Given the description of an element on the screen output the (x, y) to click on. 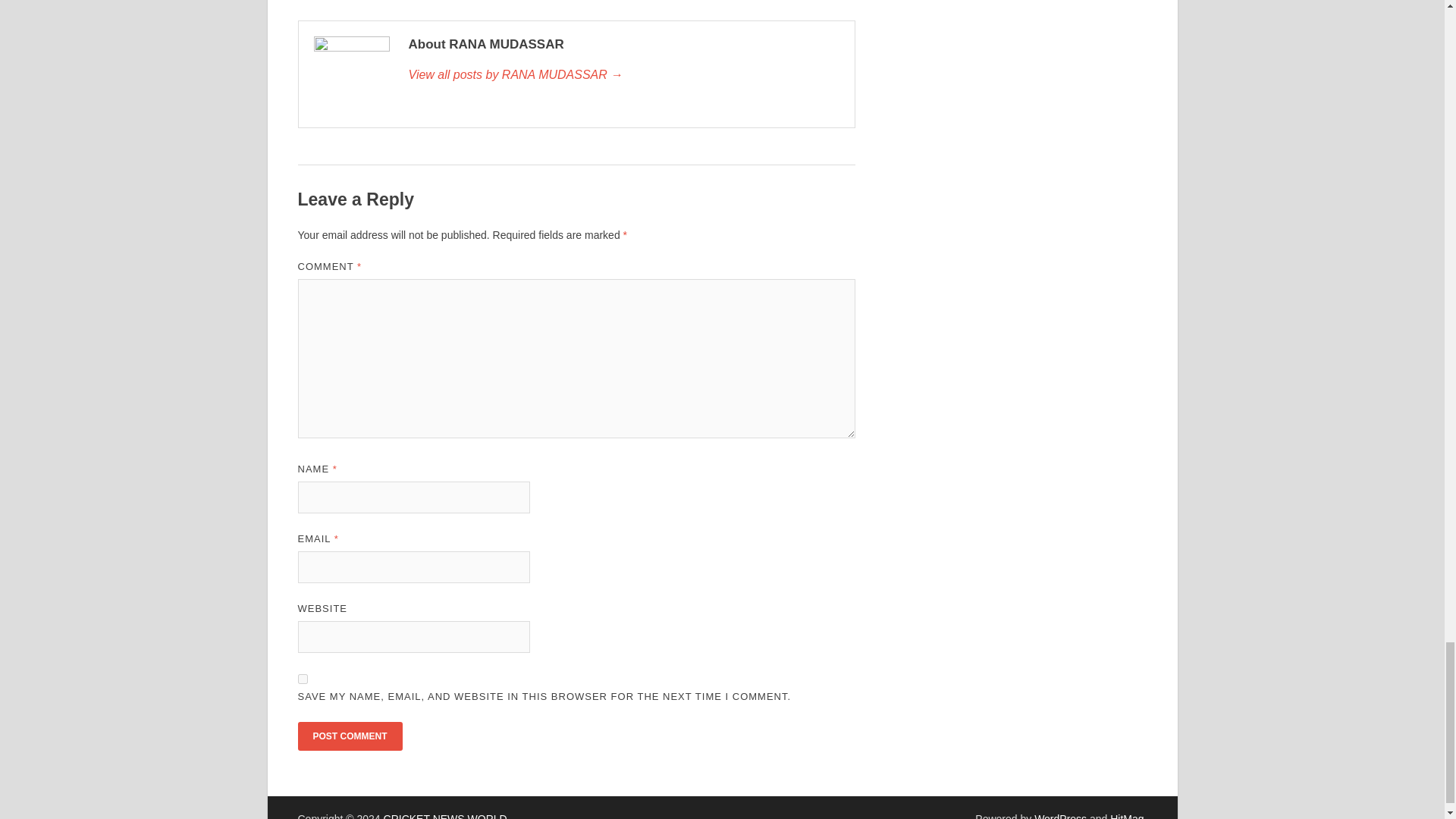
RANA MUDASSAR (622, 75)
Post Comment (349, 736)
Post Comment (349, 736)
yes (302, 678)
